Given the description of an element on the screen output the (x, y) to click on. 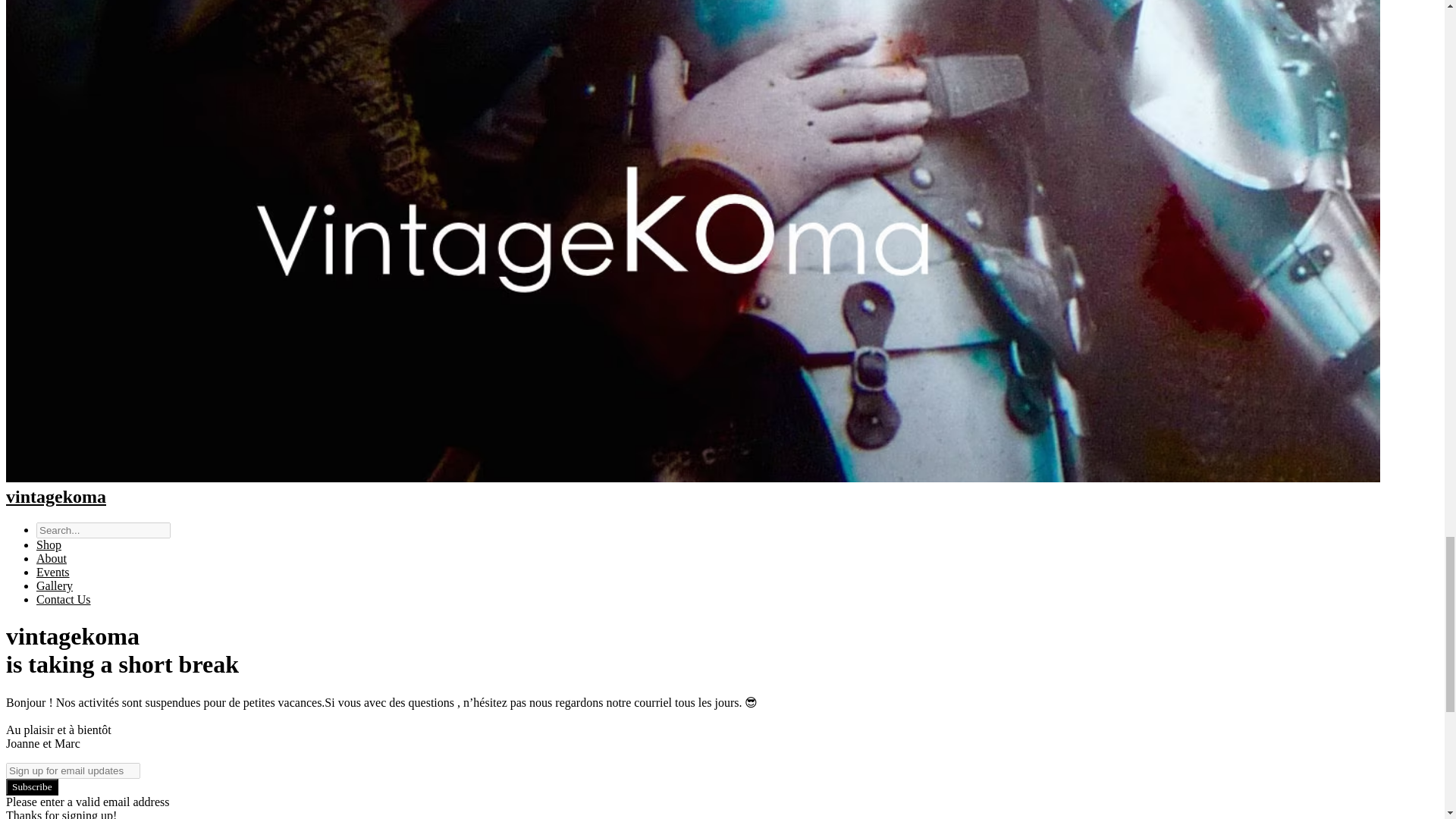
Subscribe (31, 786)
Subscribe (31, 786)
Shop (48, 544)
Gallery (54, 585)
Contact Us (63, 599)
Events (52, 571)
About (51, 558)
